Given the description of an element on the screen output the (x, y) to click on. 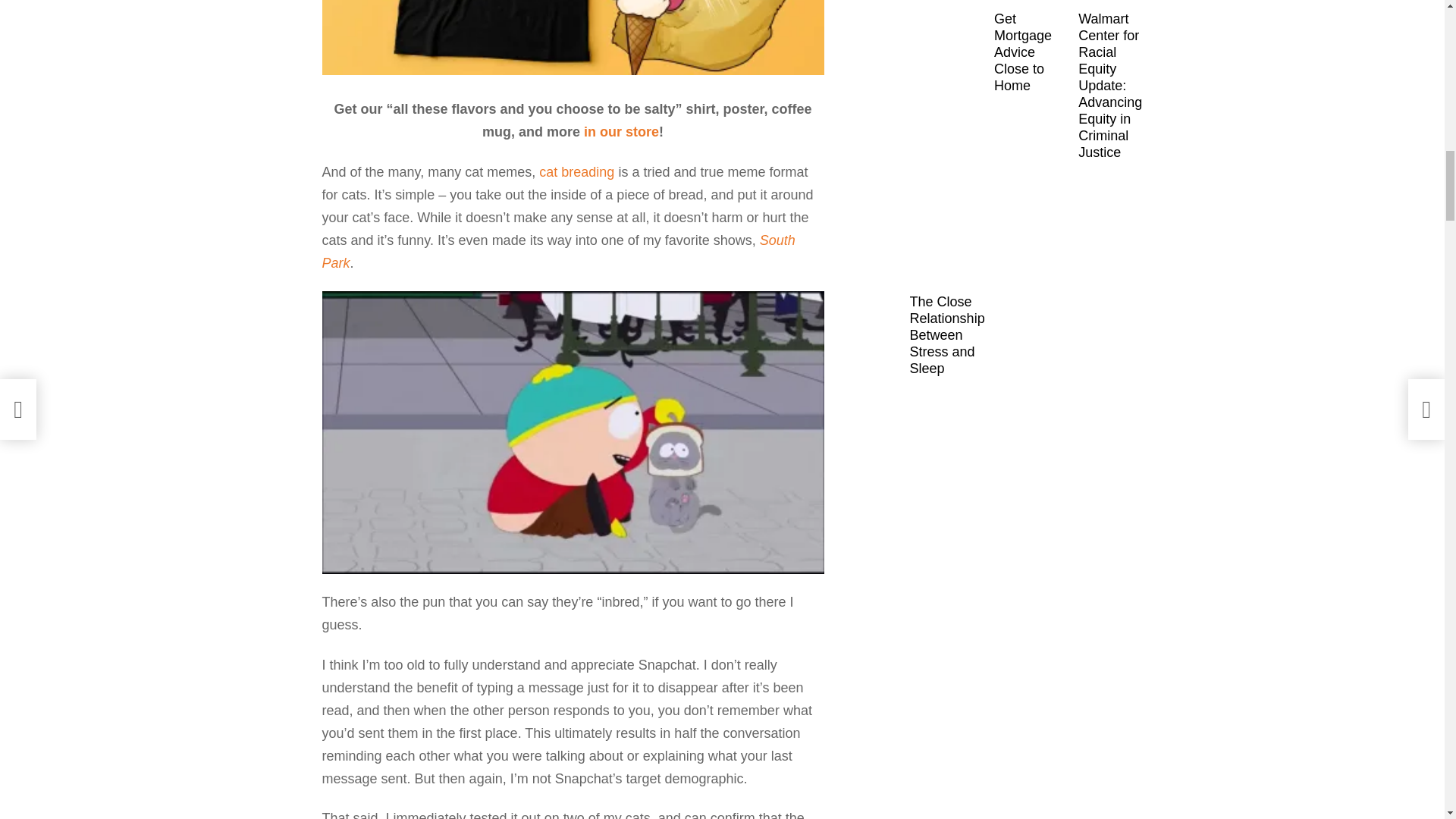
in our store (621, 131)
South Park (557, 251)
cat breading (576, 171)
